Given the description of an element on the screen output the (x, y) to click on. 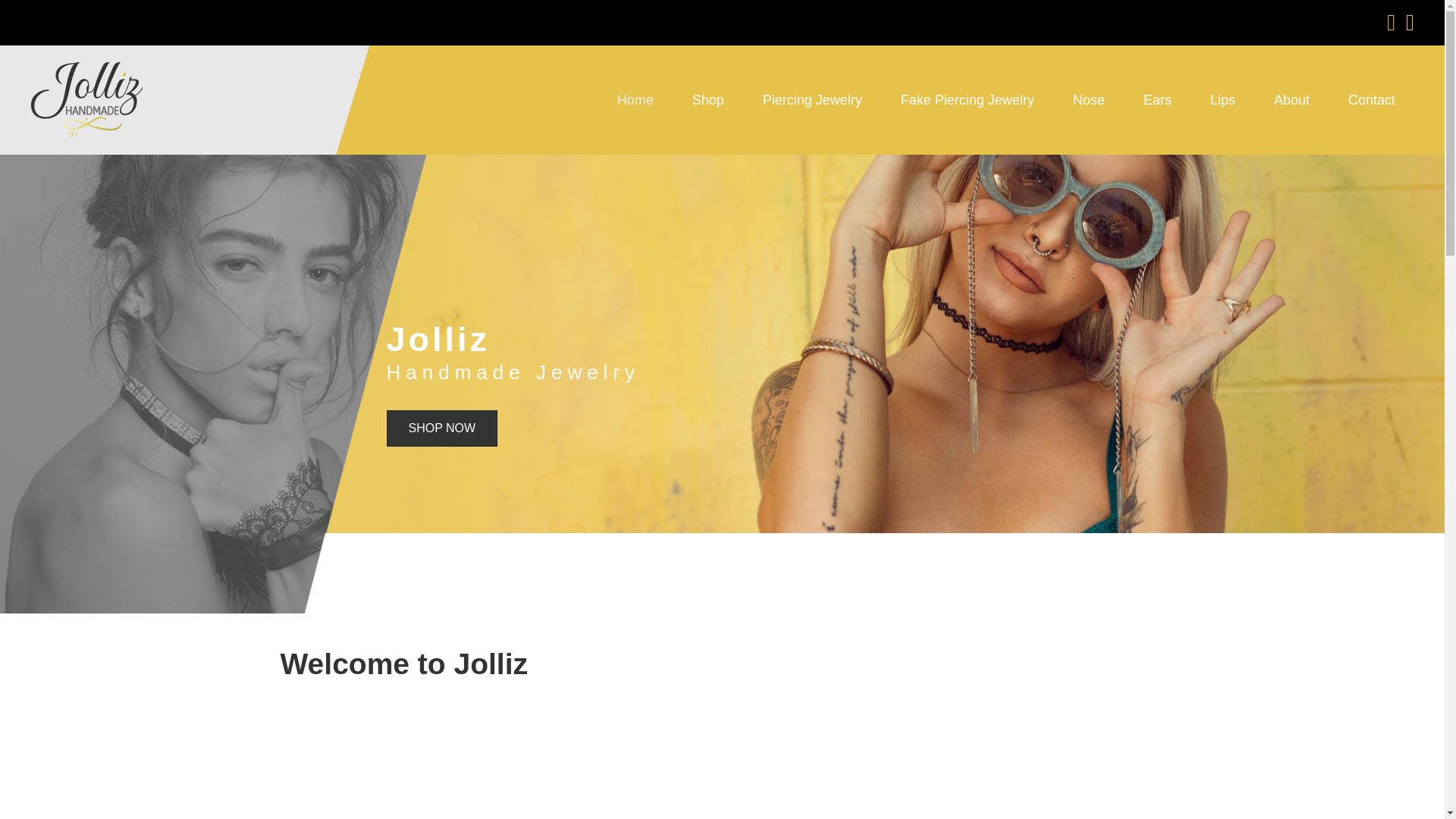
Ears (1157, 99)
Home (635, 99)
Piercing Jewelry (812, 99)
Contact (1371, 99)
logoNew2 (87, 99)
SHOP NOW (442, 428)
About (1291, 99)
Lips (1222, 99)
Nose (1089, 99)
Fake Piercing Jewelry (967, 99)
